Given the description of an element on the screen output the (x, y) to click on. 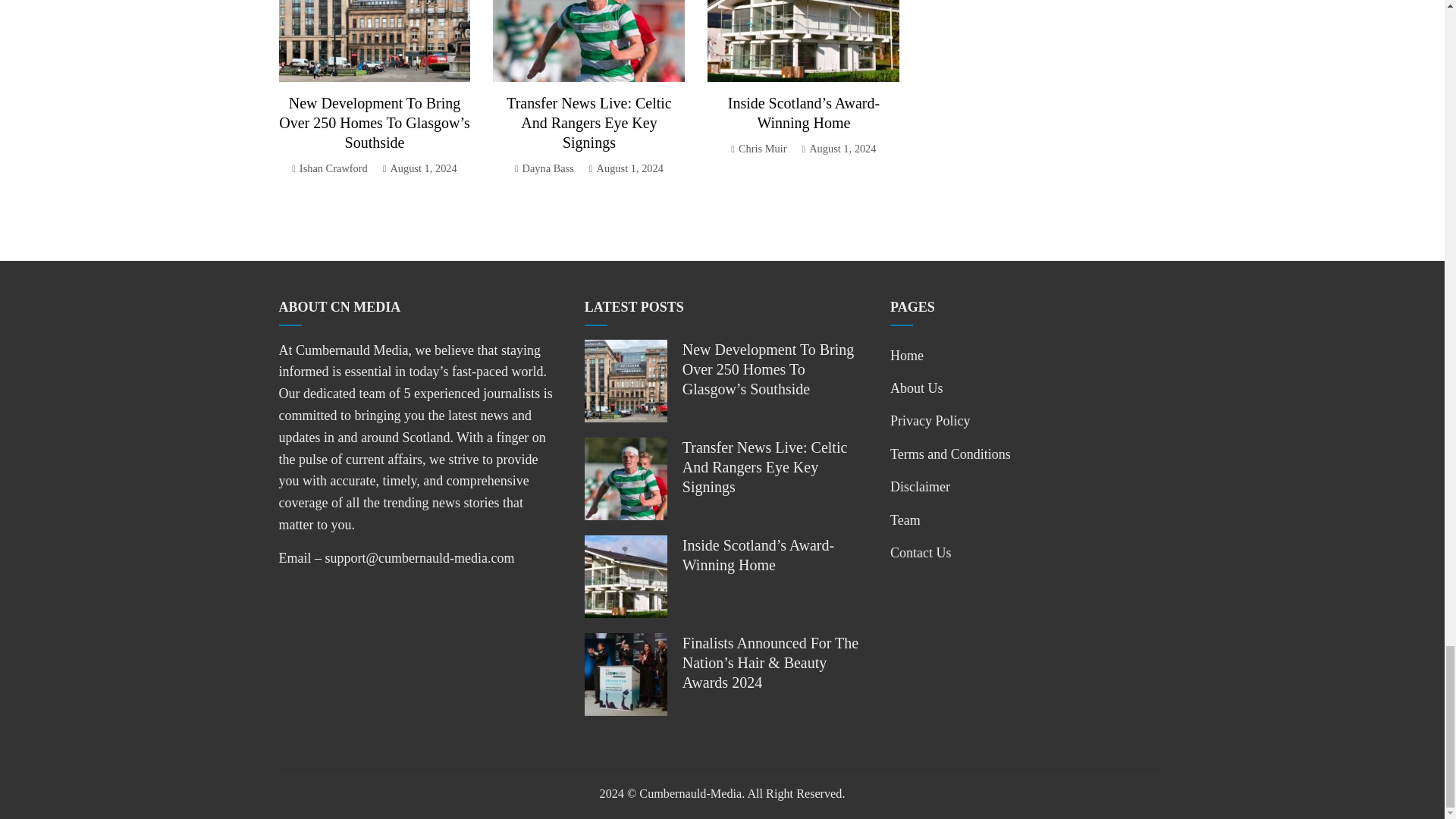
Transfer News Live: Celtic and Rangers Eye Key Signings (588, 122)
